Given the description of an element on the screen output the (x, y) to click on. 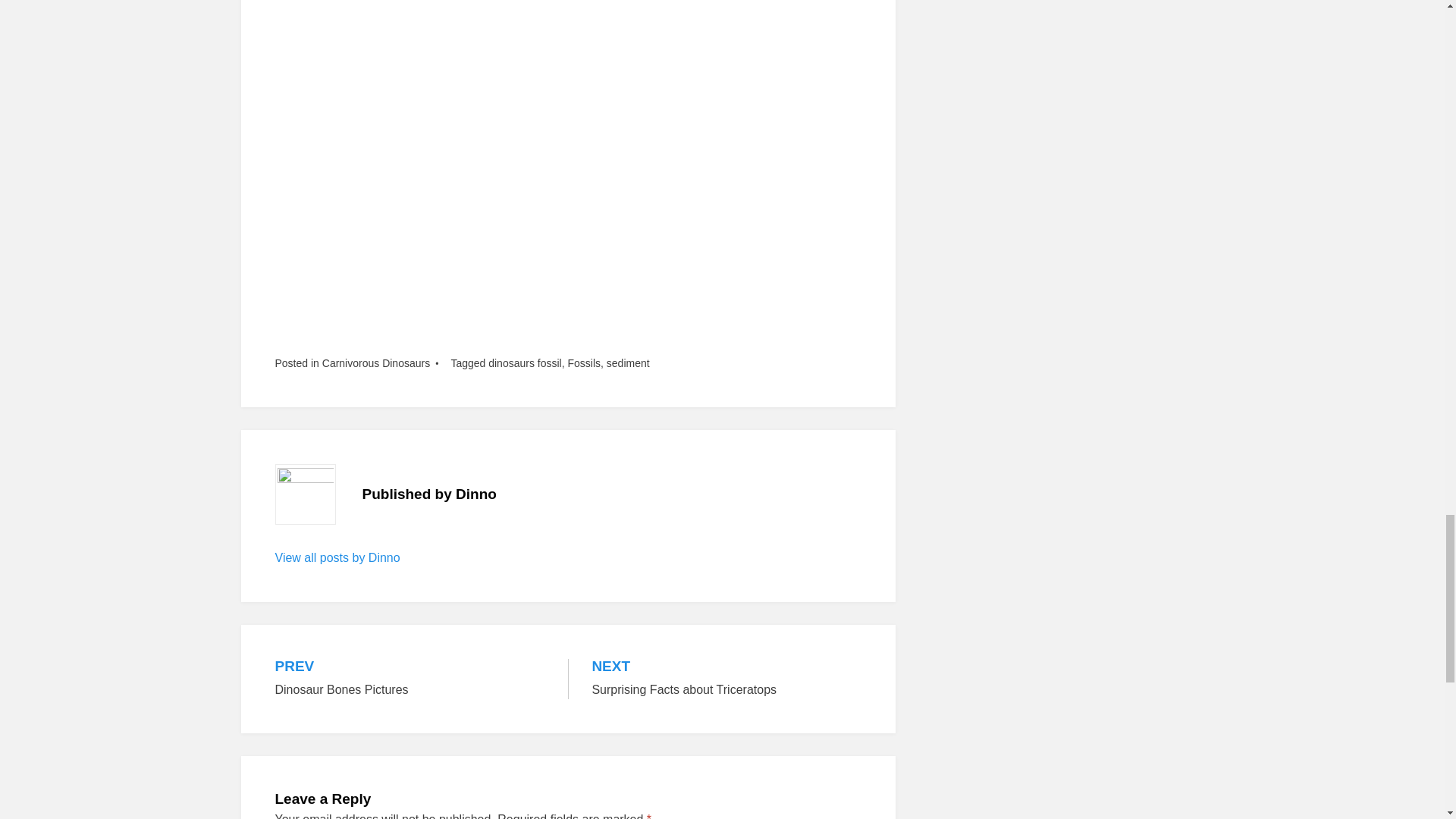
dinosaurs fossil (524, 363)
sediment (409, 679)
Carnivorous Dinosaurs (726, 679)
Fossils (628, 363)
View all posts by Dinno (375, 363)
